Given the description of an element on the screen output the (x, y) to click on. 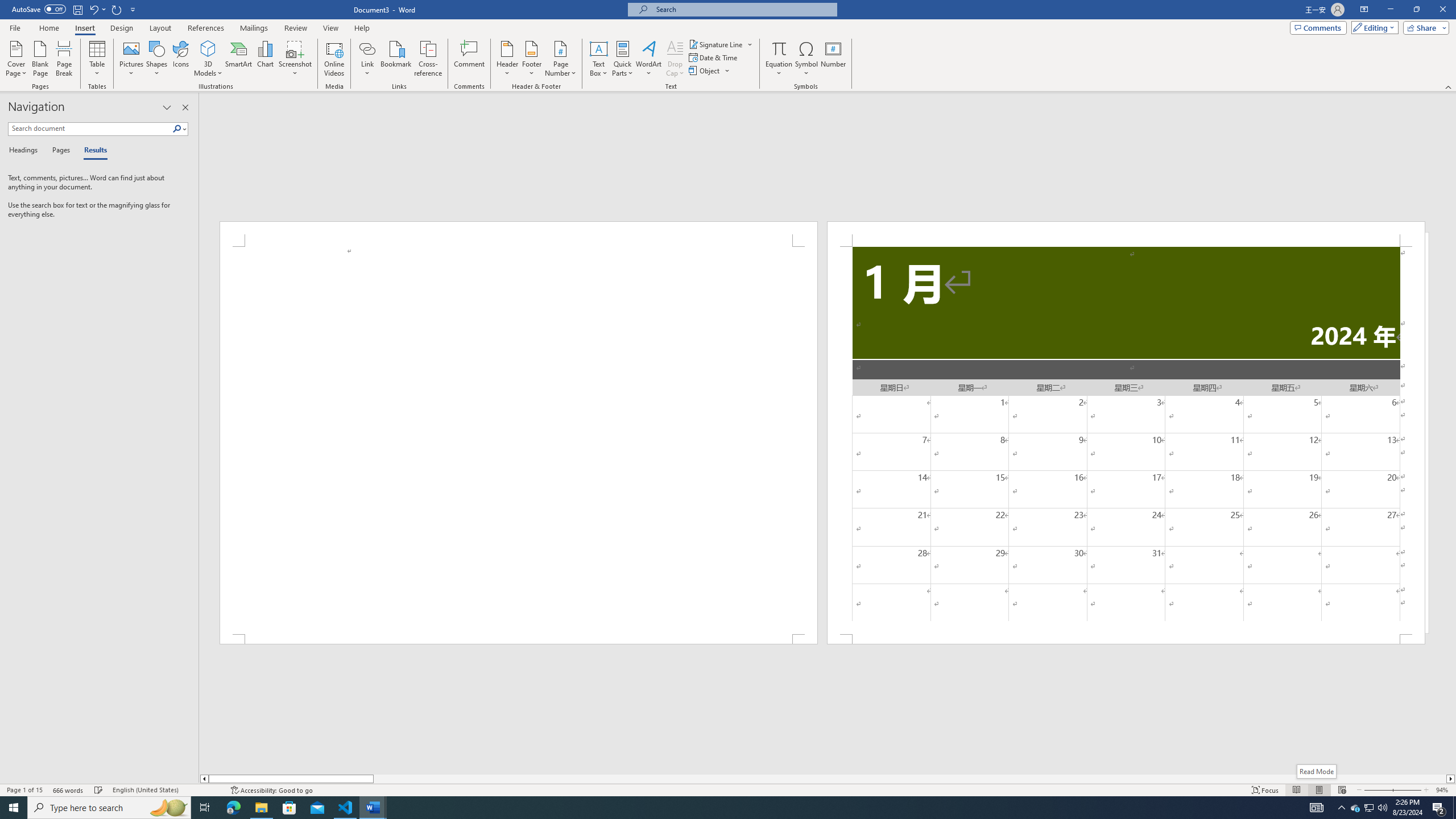
Read Mode (1316, 771)
Pages (59, 150)
Drop Cap (674, 58)
WordArt (648, 58)
Zoom In (1407, 790)
Shapes (156, 58)
Zoom Out (1377, 790)
Repeat Doc Close (117, 9)
Equation (778, 58)
Footer (531, 58)
SmartArt... (238, 58)
Quick Parts (622, 58)
Page Number Page 1 of 15 (24, 790)
Icons (180, 58)
